Given the description of an element on the screen output the (x, y) to click on. 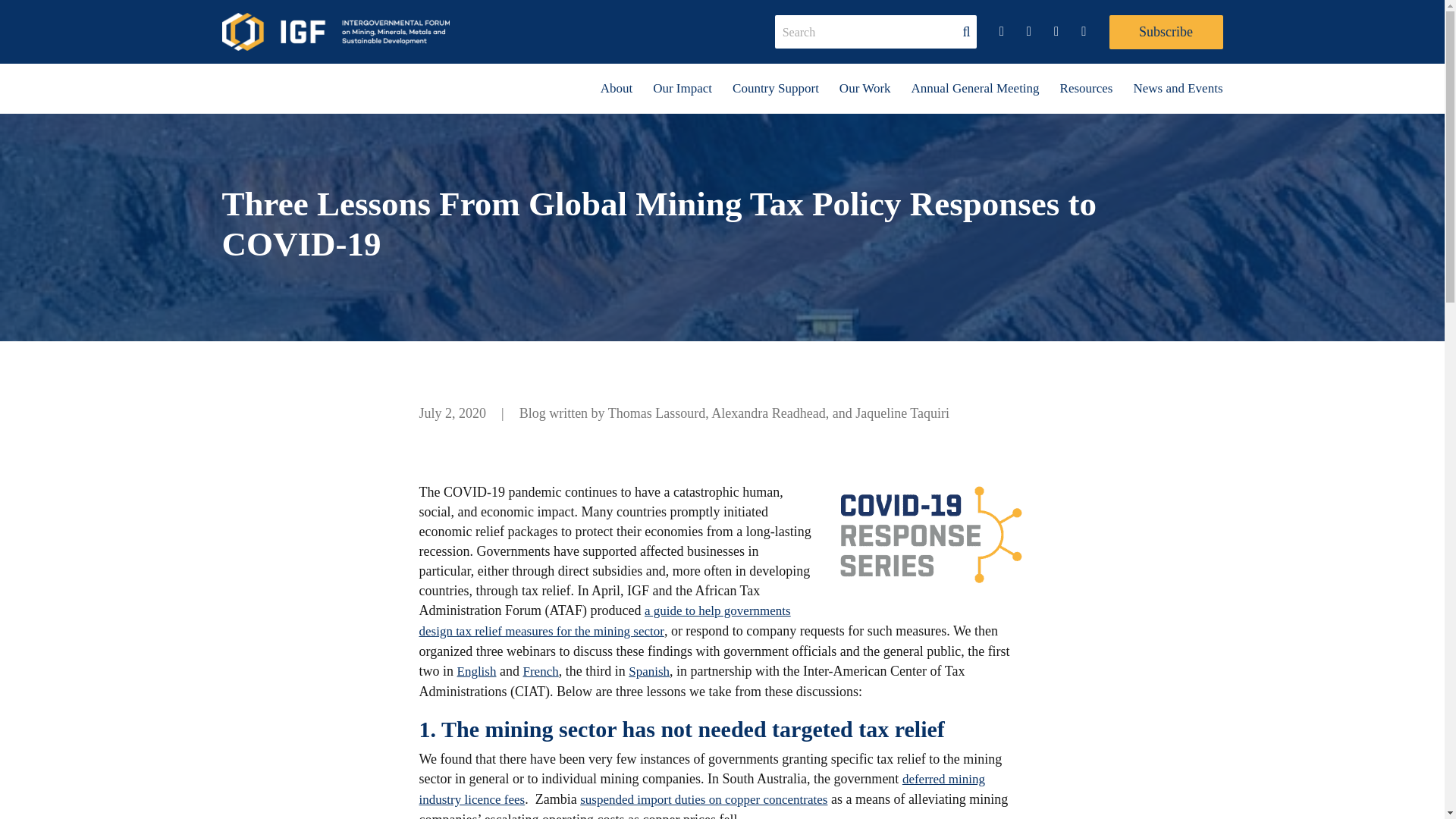
facebook (1056, 31)
linkedin (1028, 31)
twitter (1001, 31)
search-button (966, 31)
